Given the description of an element on the screen output the (x, y) to click on. 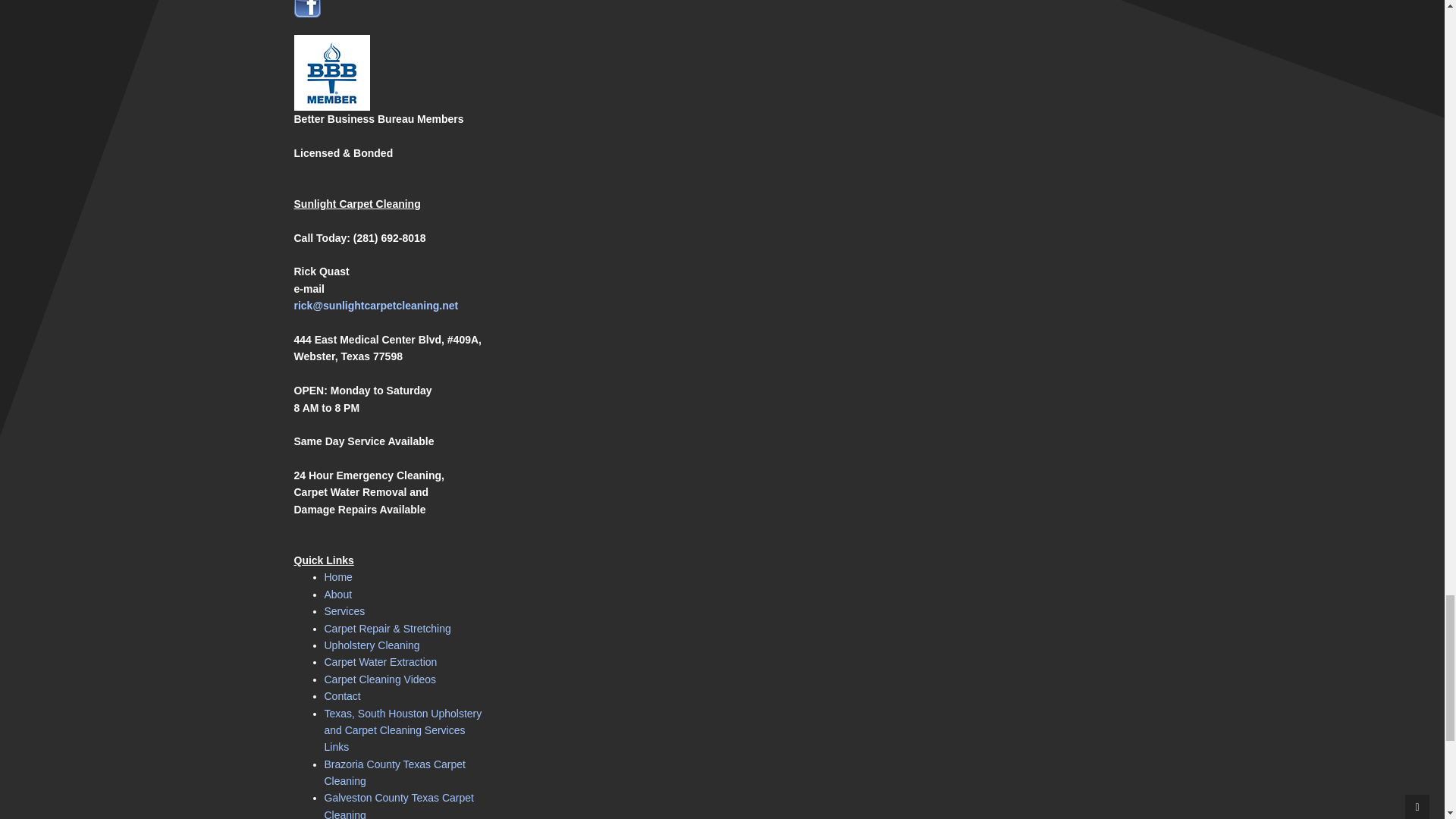
Home (338, 576)
Brazoria County Texas Carpet Cleaning (394, 772)
Galveston County Texas Carpet Cleaning (399, 805)
Carpet Water Extraction (381, 662)
Upholstery Cleaning (372, 645)
About (338, 594)
Contact (342, 695)
Services (344, 611)
Carpet Cleaning Videos (380, 679)
